Given the description of an element on the screen output the (x, y) to click on. 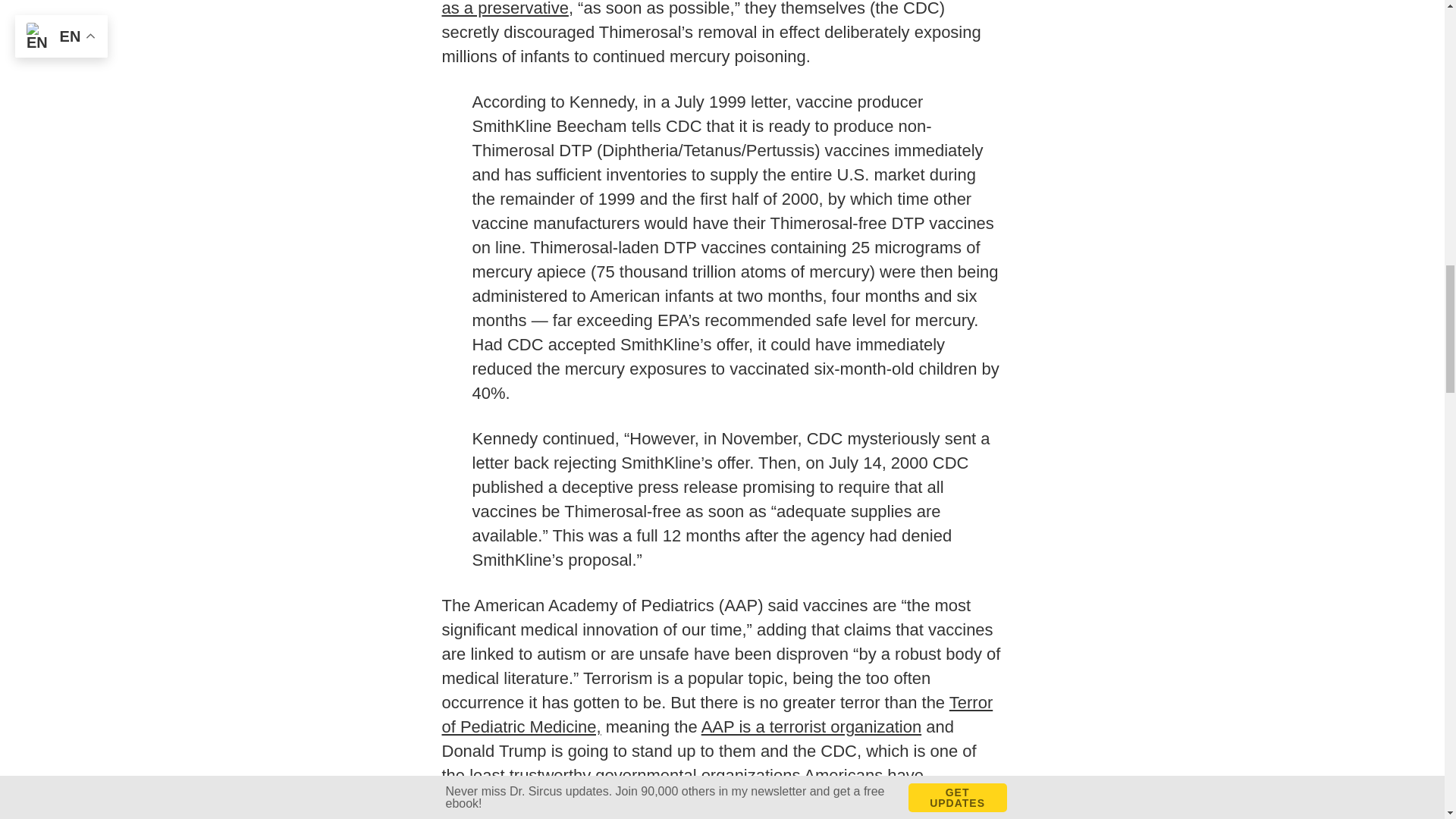
Terror of Pediatric Medicine, (716, 714)
Thimerosal as a preservative (715, 8)
